Given the description of an element on the screen output the (x, y) to click on. 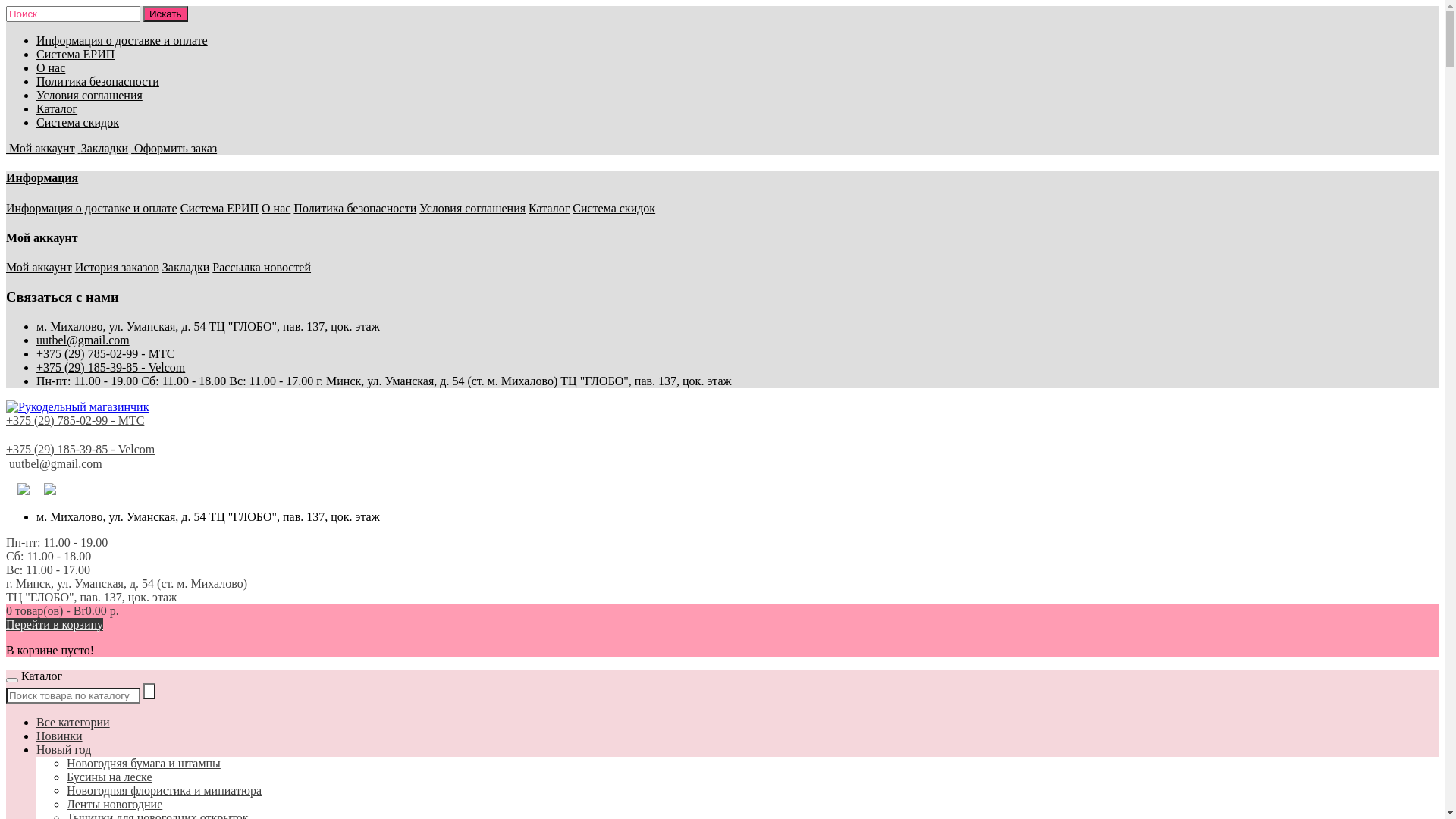
+375 (29) 185-39-85 - Velcom Element type: text (110, 366)
uutbel@gmail.com Element type: text (55, 462)
+375 (29) 185-39-85 - Velcom Element type: text (80, 448)
uutbel@gmail.com Element type: text (82, 339)
